Given the description of an element on the screen output the (x, y) to click on. 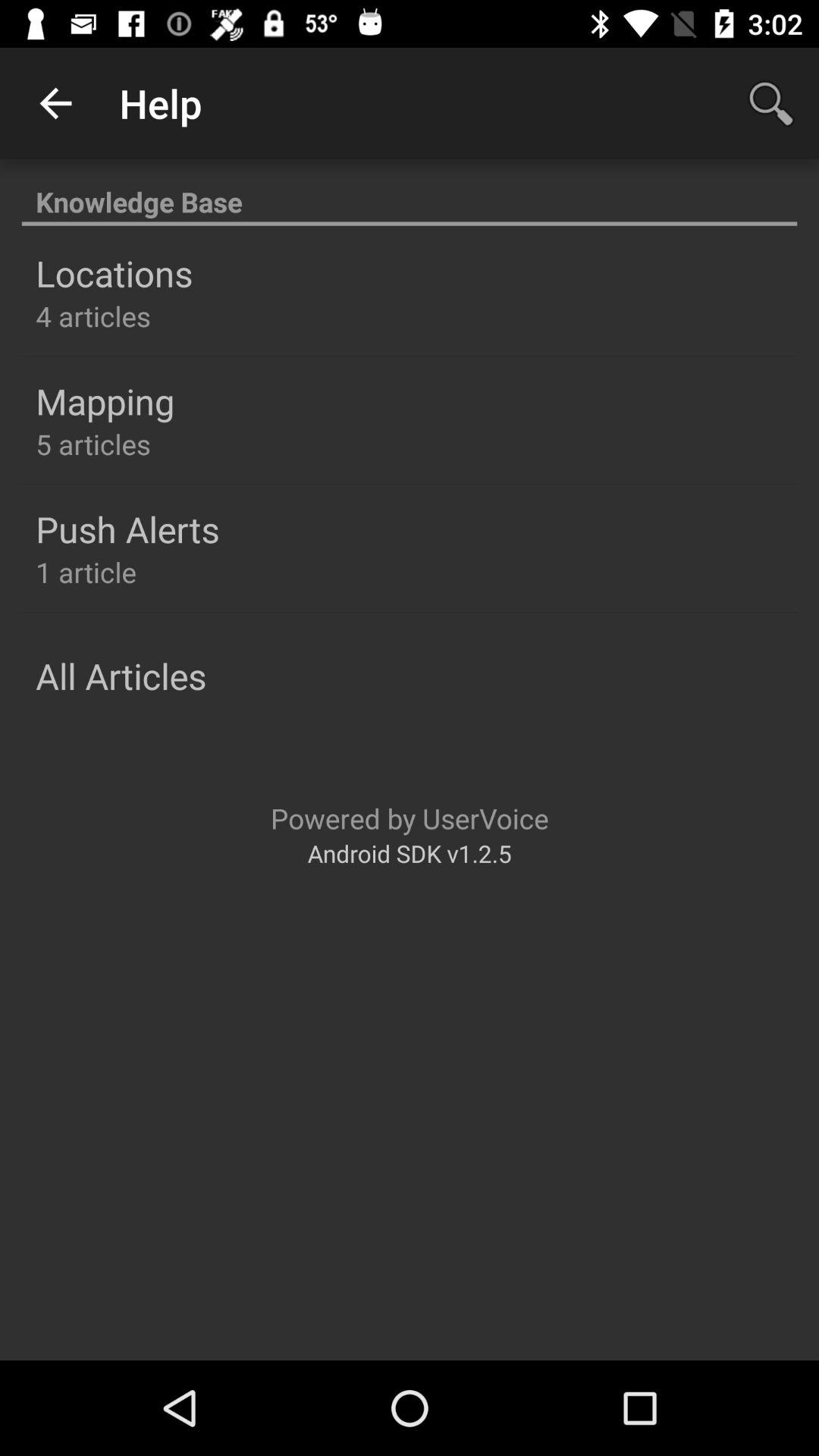
select powered by uservoice (409, 818)
